Given the description of an element on the screen output the (x, y) to click on. 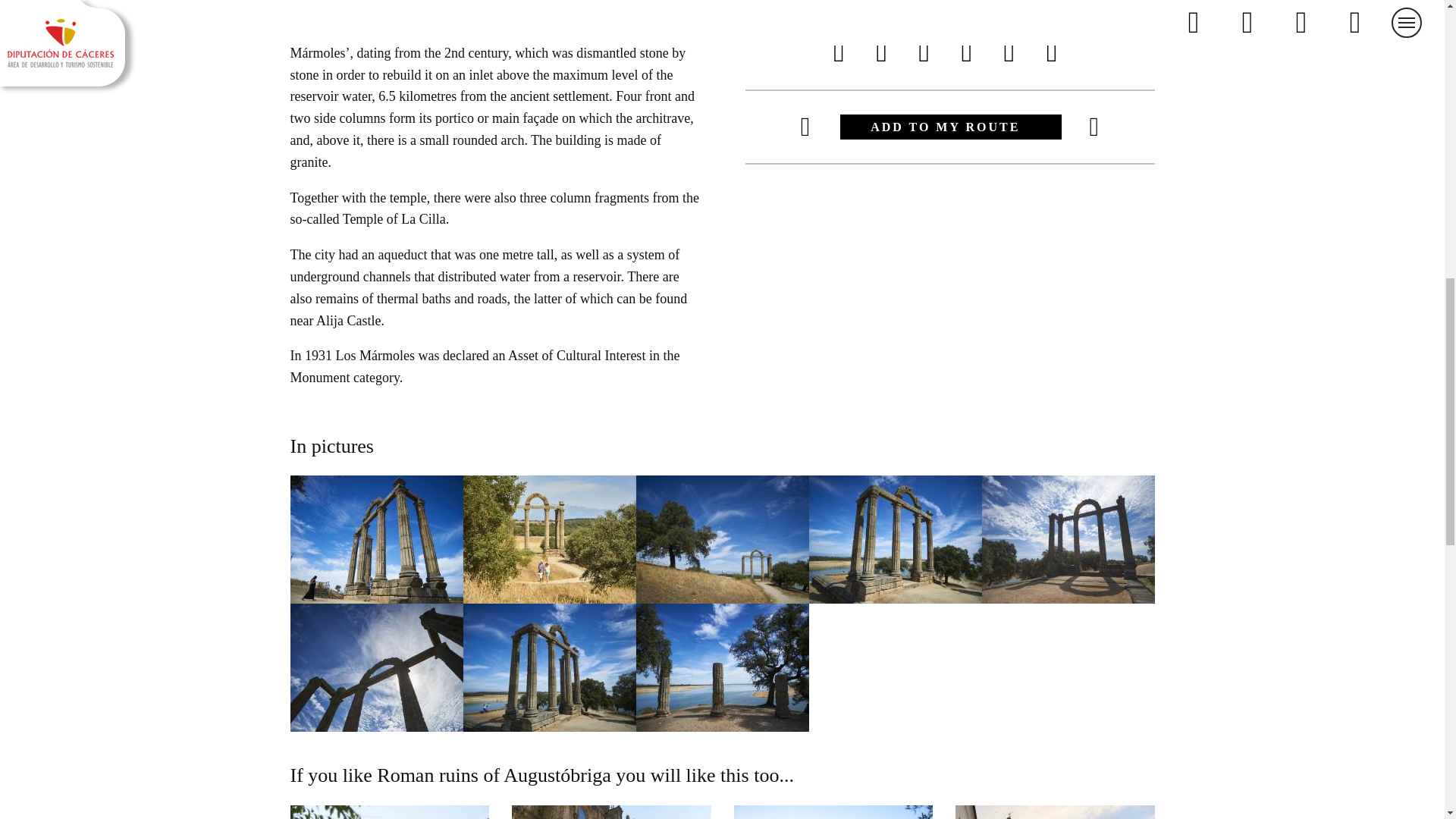
ADD TO MY ROUTE (947, 126)
